Given the description of an element on the screen output the (x, y) to click on. 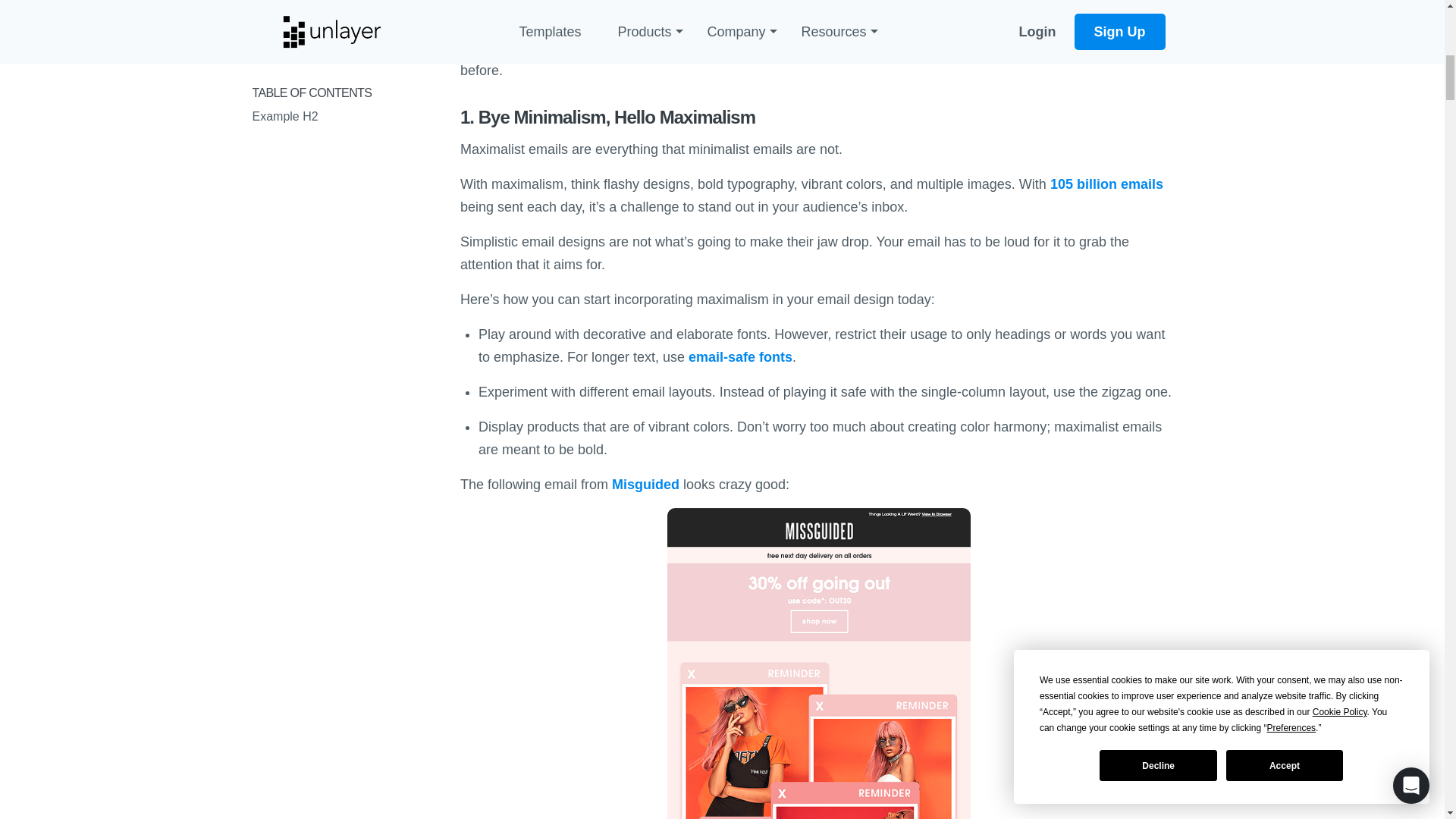
email-safe fonts (740, 356)
105 billion emails (1106, 183)
Misguided (645, 484)
